Given the description of an element on the screen output the (x, y) to click on. 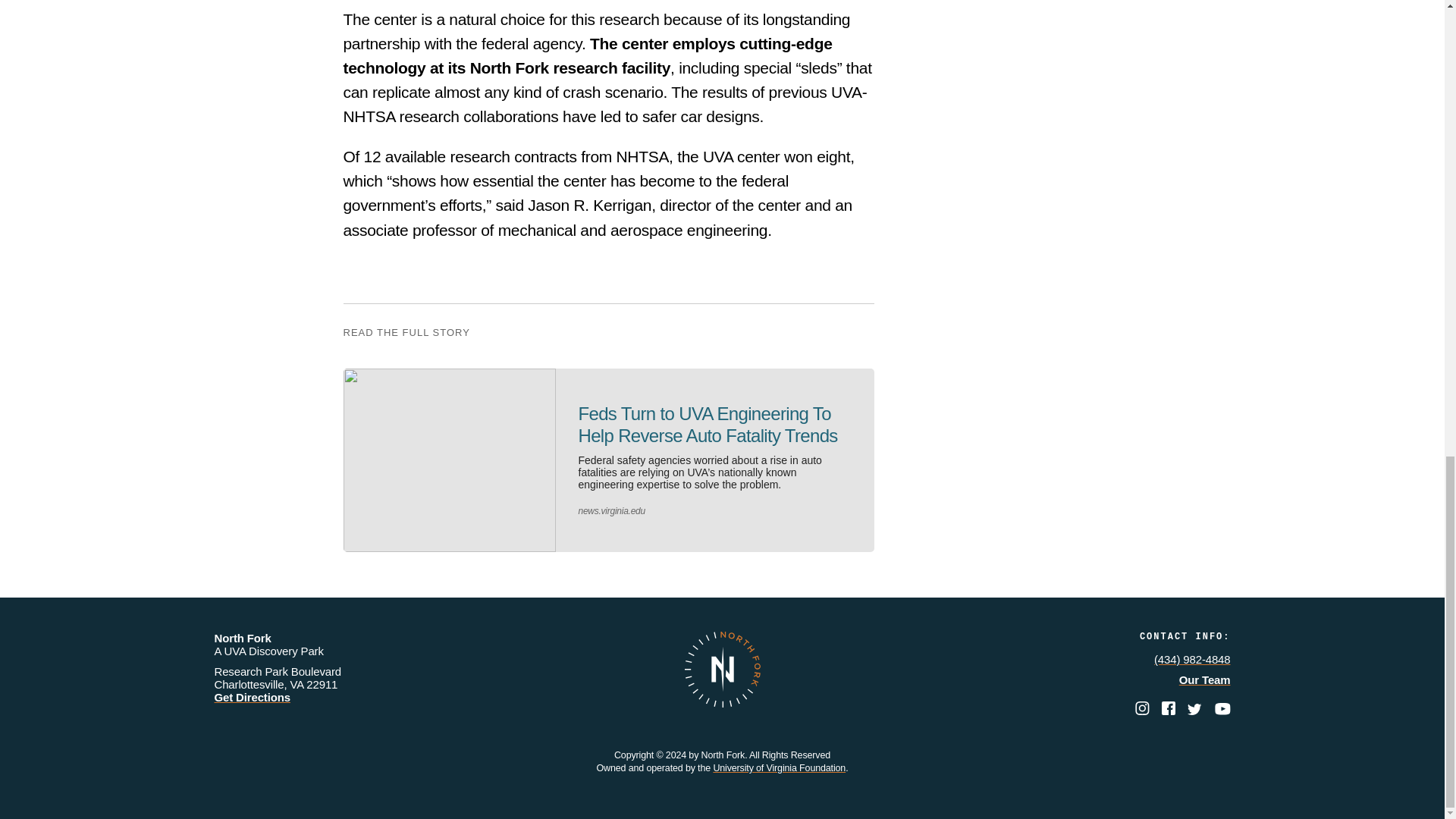
instagram (1144, 710)
twitter (1196, 710)
Get Directions (251, 697)
youtube (1222, 710)
Our Team (1204, 679)
University of Virginia Foundation (779, 767)
facebook (1169, 710)
